Given the description of an element on the screen output the (x, y) to click on. 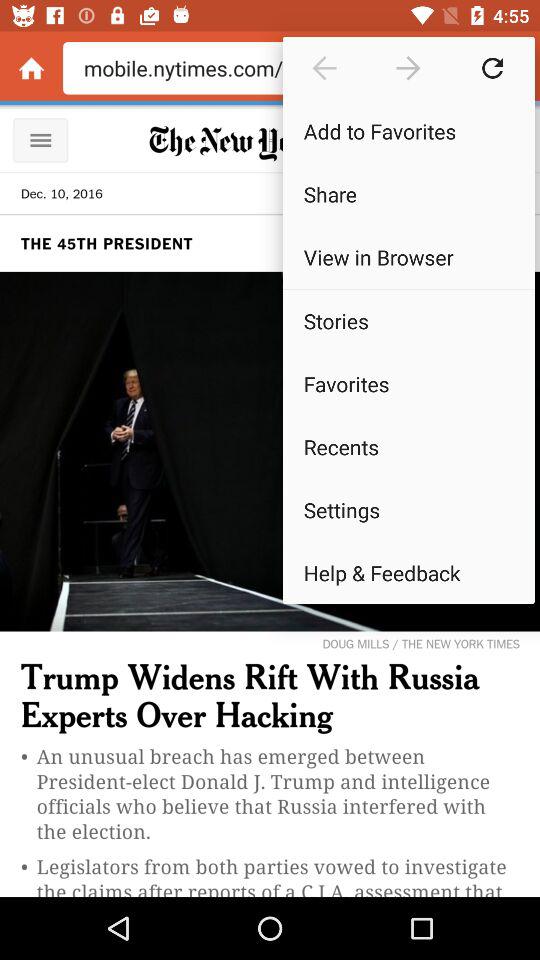
click icon below settings item (408, 572)
